Given the description of an element on the screen output the (x, y) to click on. 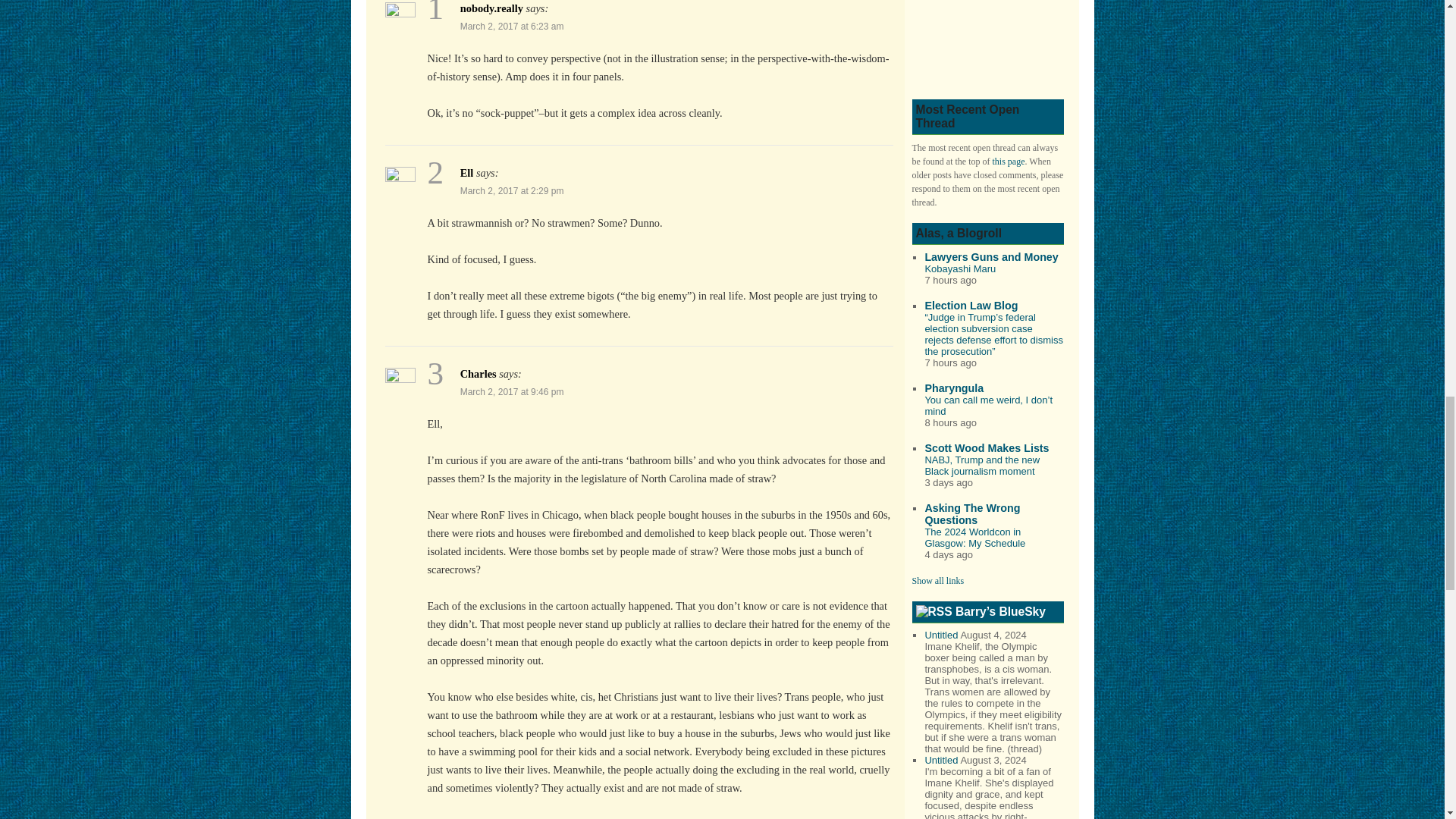
March 2, 2017 at 6:23 am (512, 26)
March 2, 2017 at 2:29 pm (512, 190)
March 2, 2017 at 9:46 pm (512, 391)
